Given the description of an element on the screen output the (x, y) to click on. 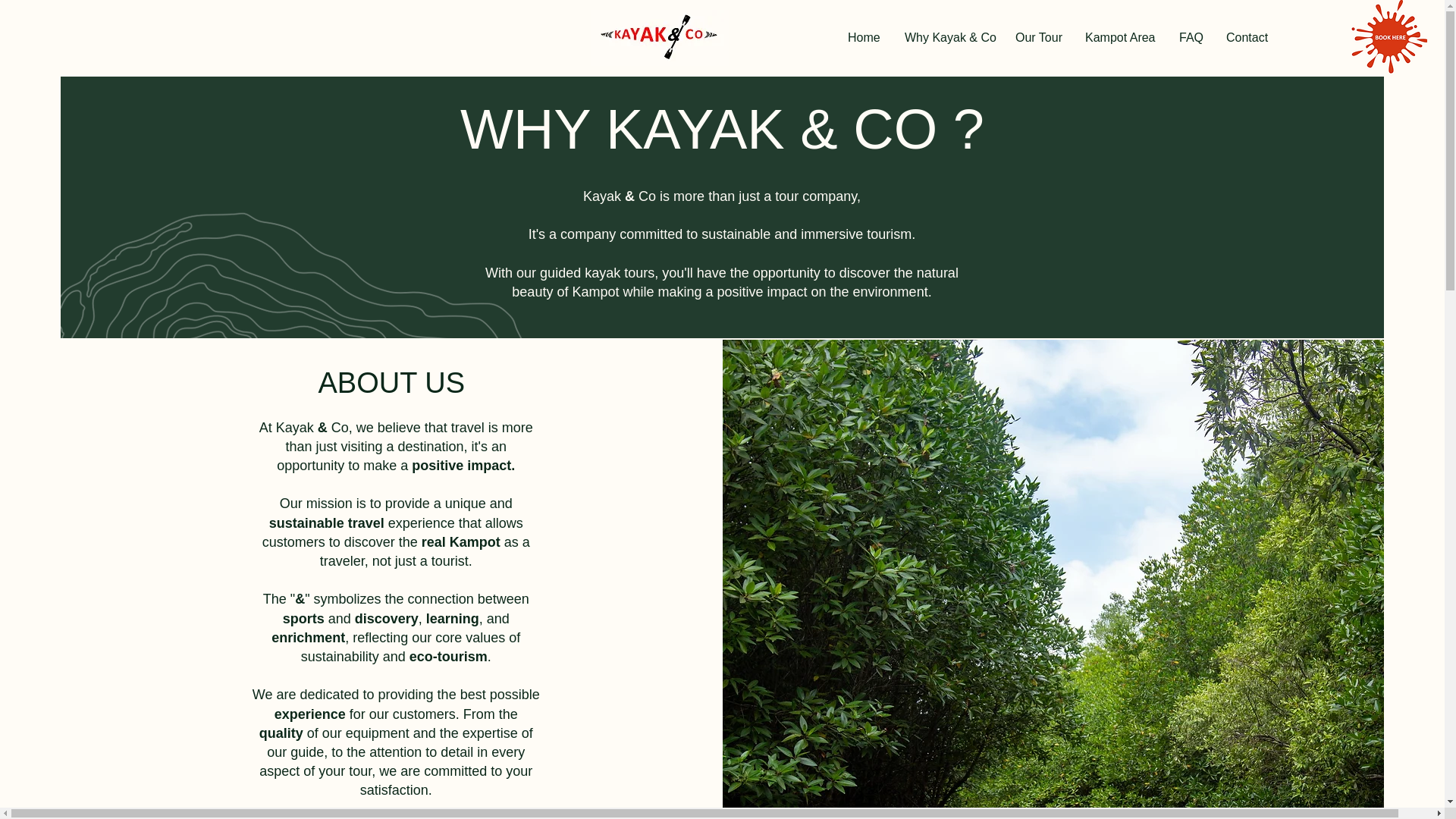
Kampot Area (1120, 37)
Contact (1246, 37)
logo KC.png (660, 37)
Our Tour (1039, 37)
FAQ (1190, 37)
Home (864, 37)
